Given the description of an element on the screen output the (x, y) to click on. 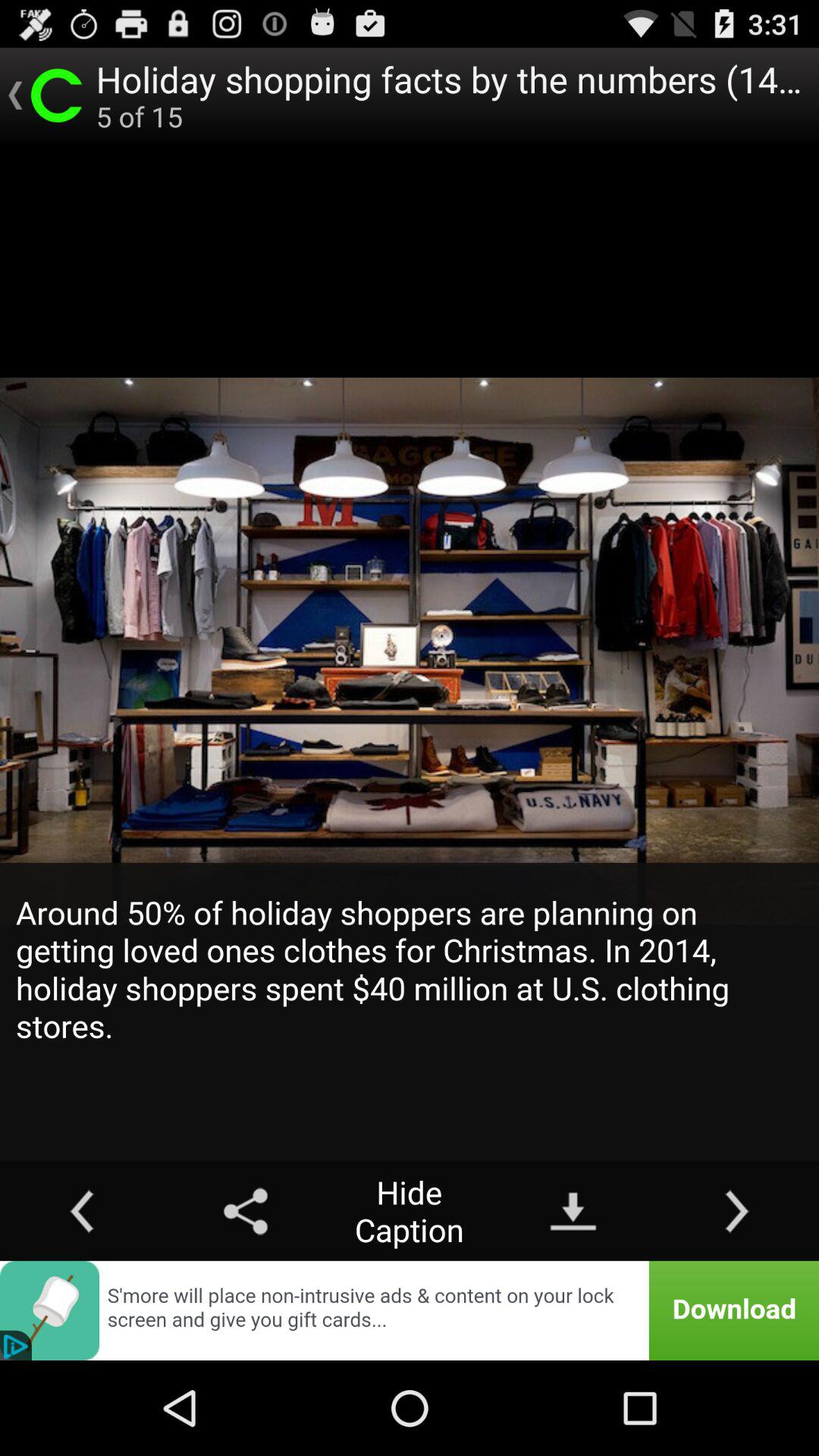
turn off button next to hide caption (245, 1210)
